Given the description of an element on the screen output the (x, y) to click on. 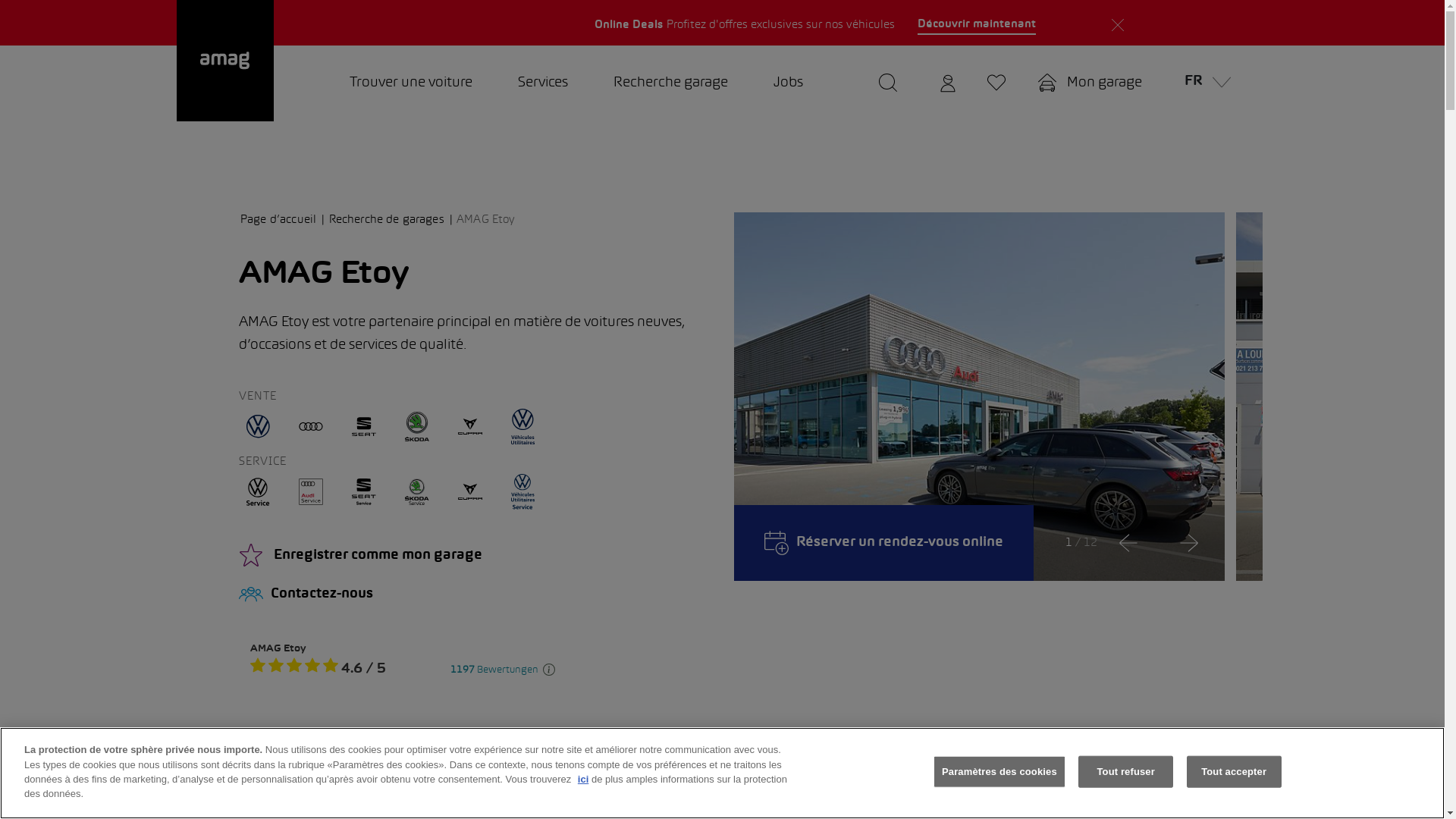
FR Element type: text (1202, 83)
Mon garage Element type: text (1089, 83)
Recherche de garages Element type: text (391, 219)
Jobs Element type: text (787, 83)
Services Element type: text (541, 83)
ici Element type: text (582, 778)
Contactez-nous Element type: text (474, 594)
Tout refuser Element type: text (1125, 771)
Recherche garage Element type: text (669, 83)
Tout accepter Element type: text (1233, 771)
Trouver une voiture Element type: text (410, 83)
